Given the description of an element on the screen output the (x, y) to click on. 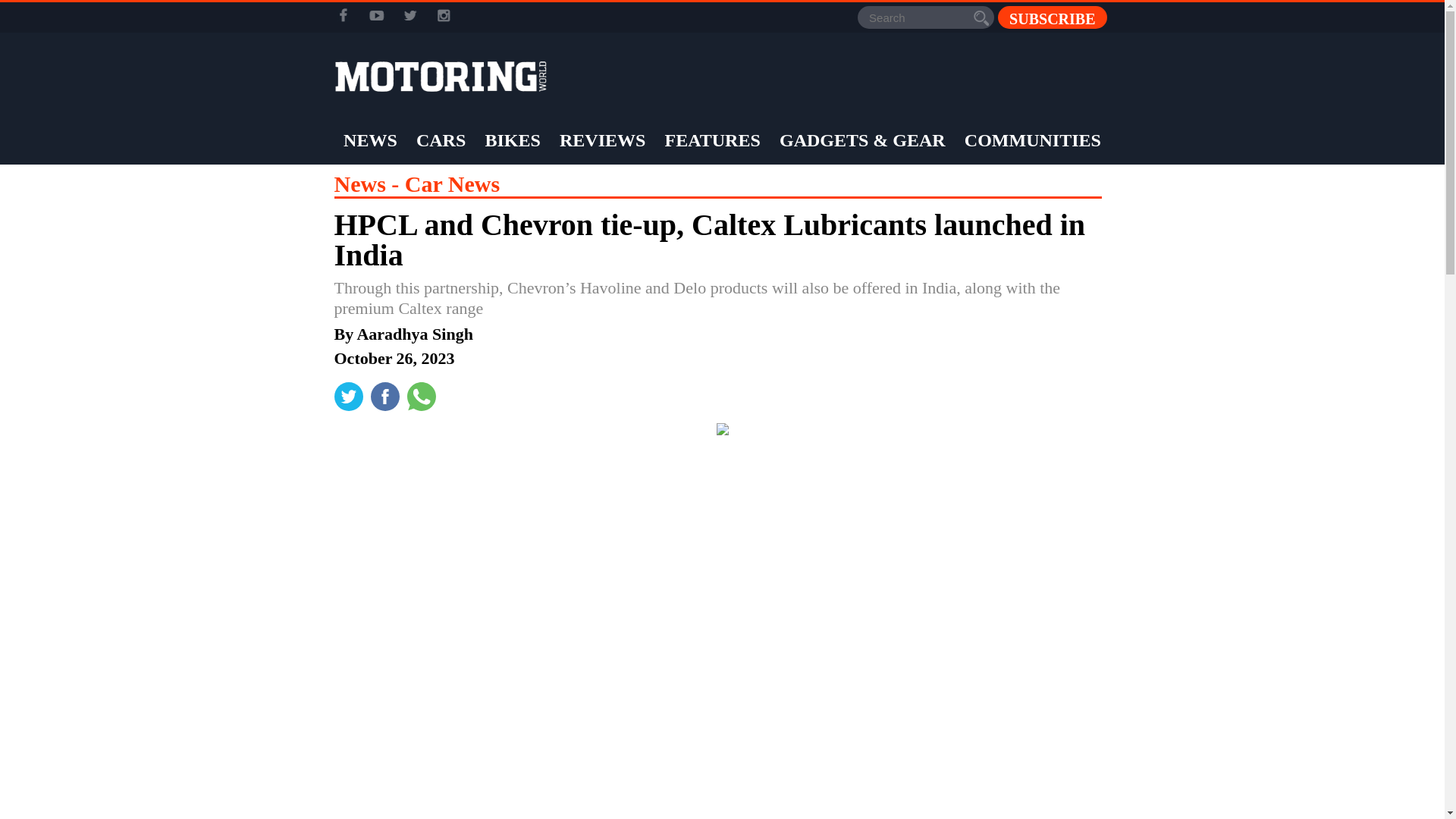
SUBSCRIBE (1051, 16)
Aaradhya Singh (413, 333)
COMMUNITIES (1032, 140)
NEWS (370, 140)
Posts by Aaradhya Singh (413, 333)
Car News (451, 183)
CARS (440, 140)
FEATURES (712, 140)
BIKES (511, 140)
News (368, 183)
